Given the description of an element on the screen output the (x, y) to click on. 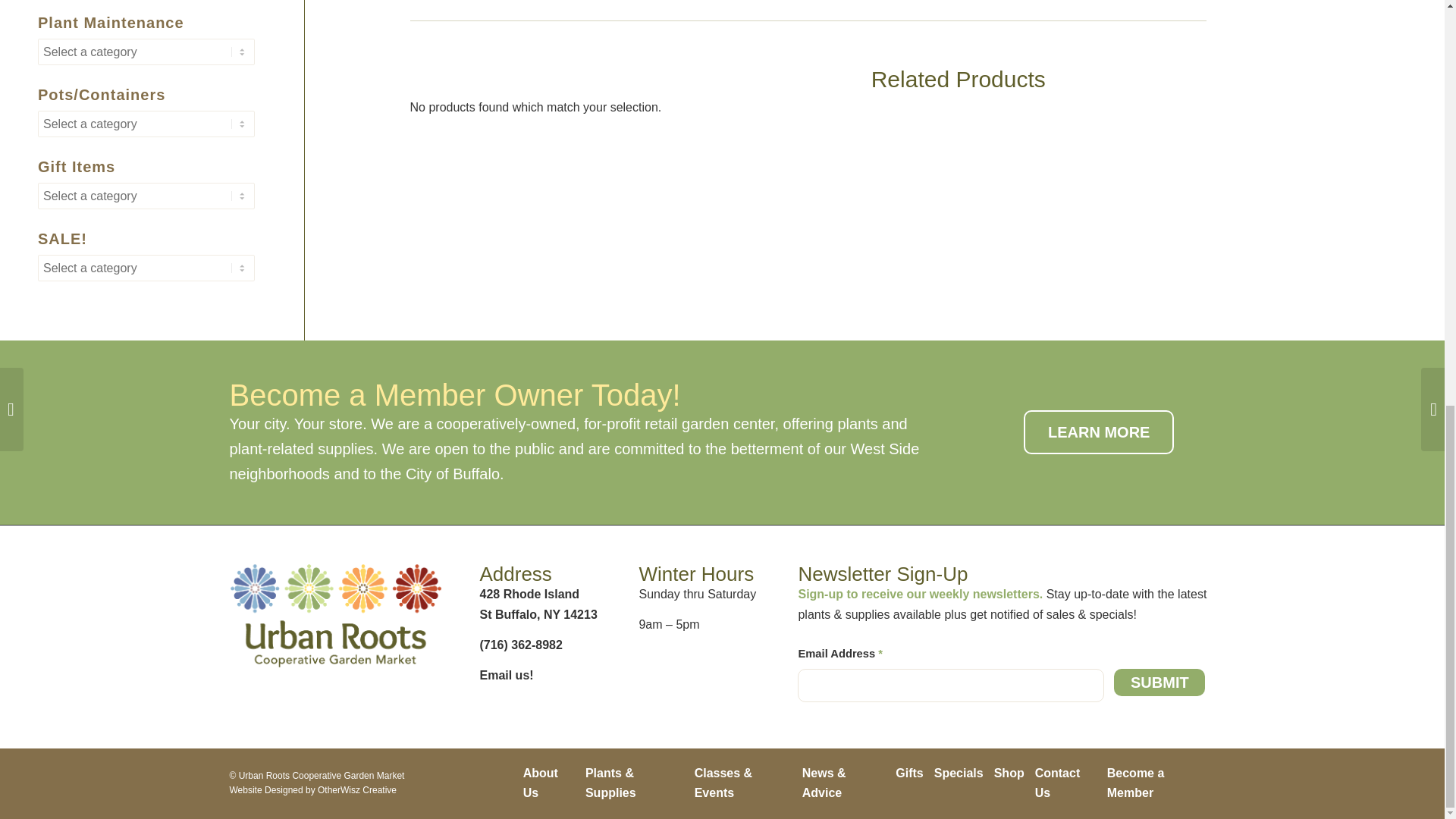
Submit (1159, 682)
